Given the description of an element on the screen output the (x, y) to click on. 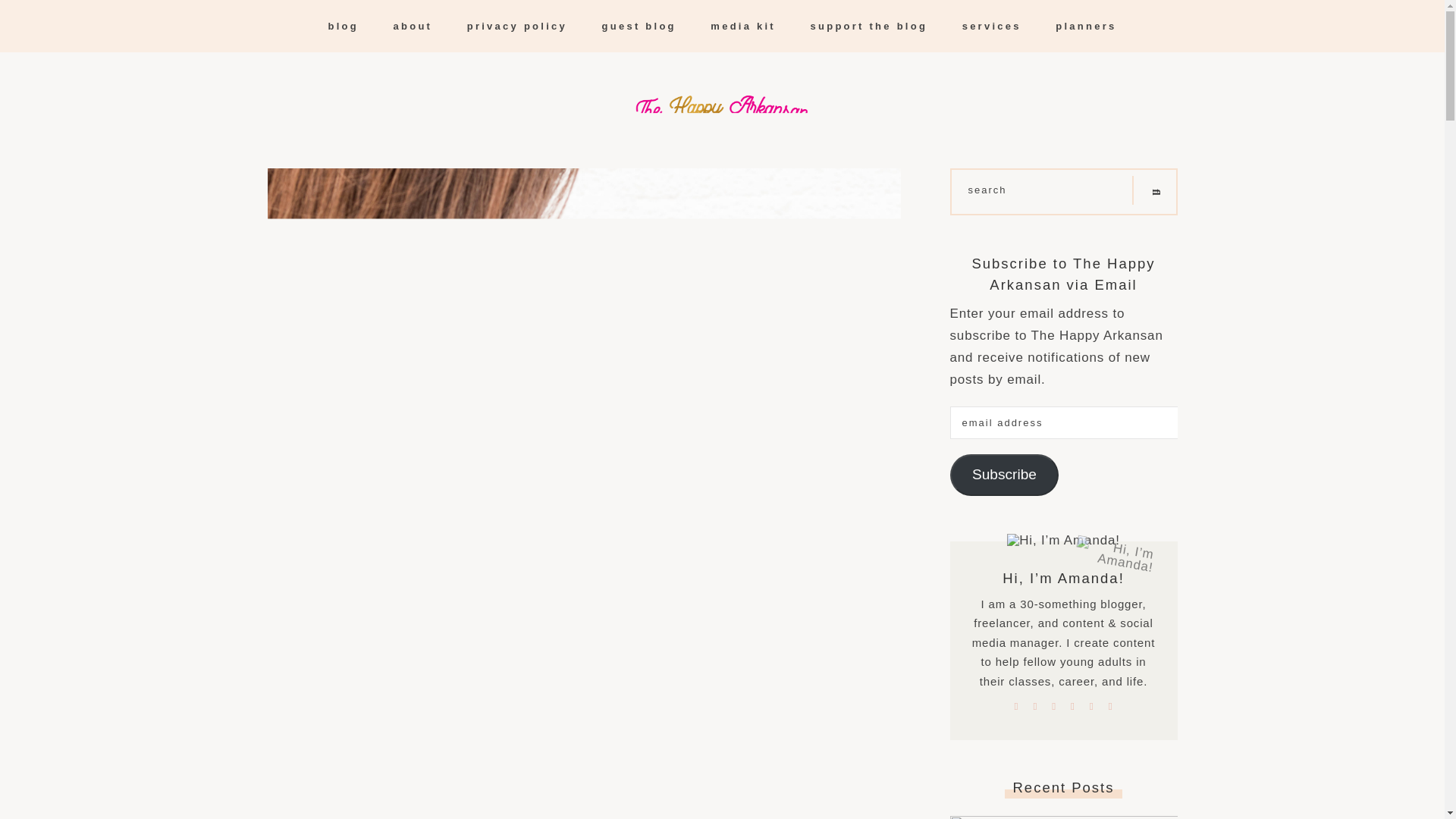
media kit (743, 26)
guest blog (639, 26)
blog (343, 26)
planners (1085, 26)
support the blog (869, 26)
about (412, 26)
services (992, 26)
privacy policy (517, 26)
